Given the description of an element on the screen output the (x, y) to click on. 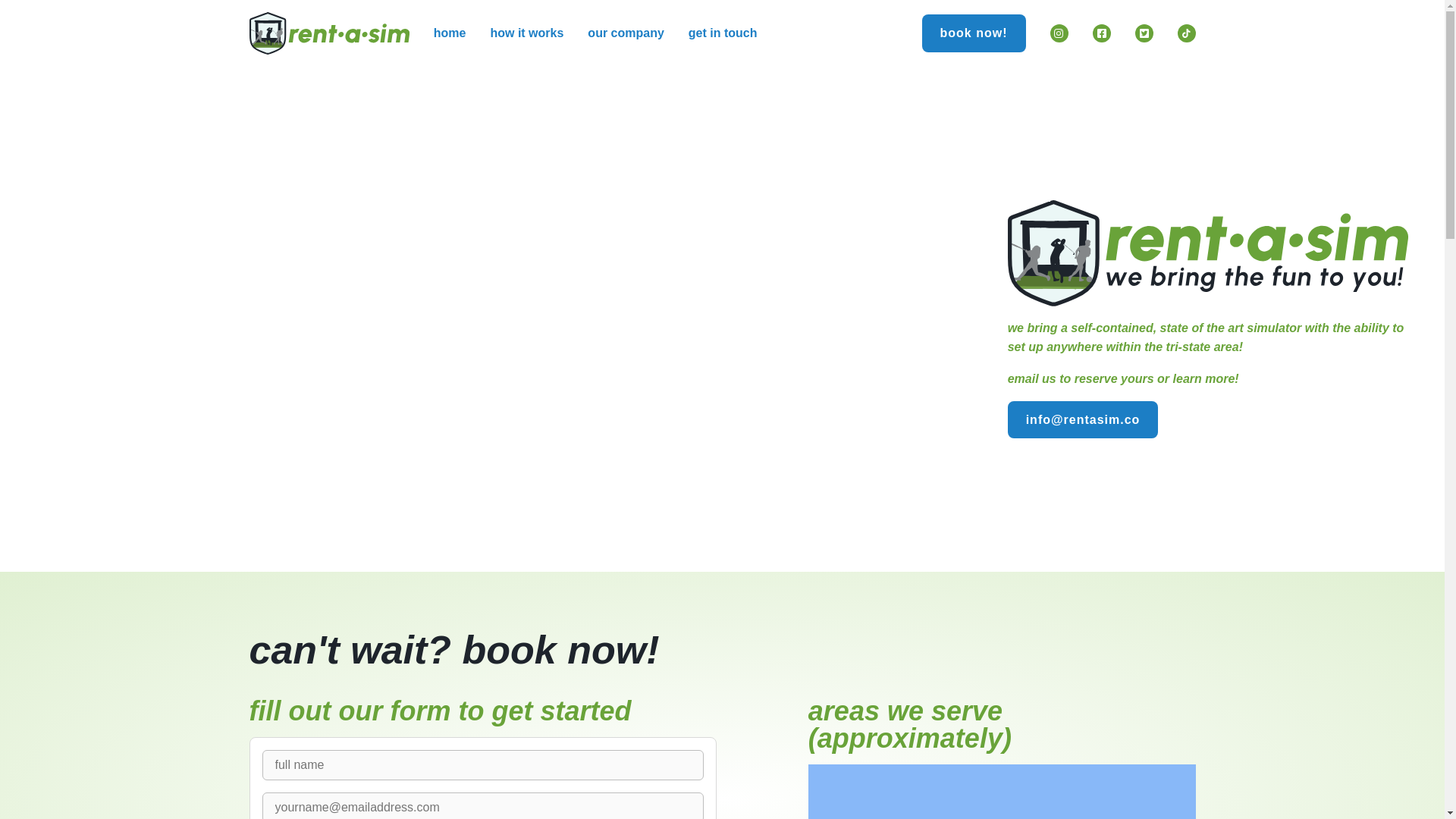
home (449, 32)
book now! (973, 33)
how it works (526, 32)
our company (625, 32)
Rent a sim; we bring the fun to you! (1207, 252)
get in touch (722, 32)
Rent a Sim on facebook (1100, 33)
